Given the description of an element on the screen output the (x, y) to click on. 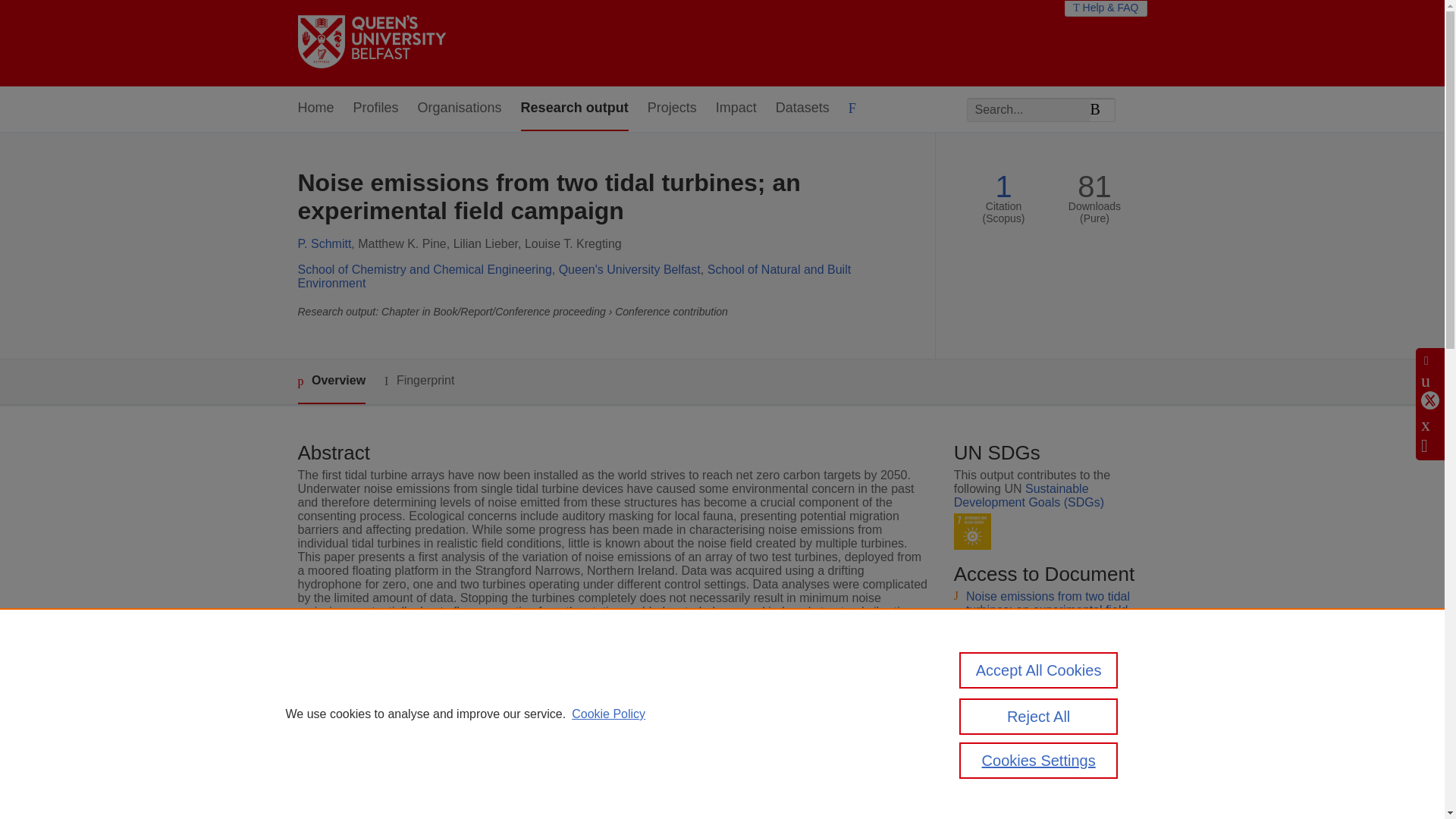
Fingerprint (419, 380)
Queen's University Belfast Home (371, 43)
Home (315, 108)
P. Schmitt (323, 243)
Impact (736, 108)
Overview (331, 381)
Projects (672, 108)
Research output (574, 108)
1 (1002, 186)
Datasets (802, 108)
Organisations (459, 108)
SDG 7 - Affordable and Clean Energy (972, 531)
School of Natural and Built Environment (573, 275)
